Given the description of an element on the screen output the (x, y) to click on. 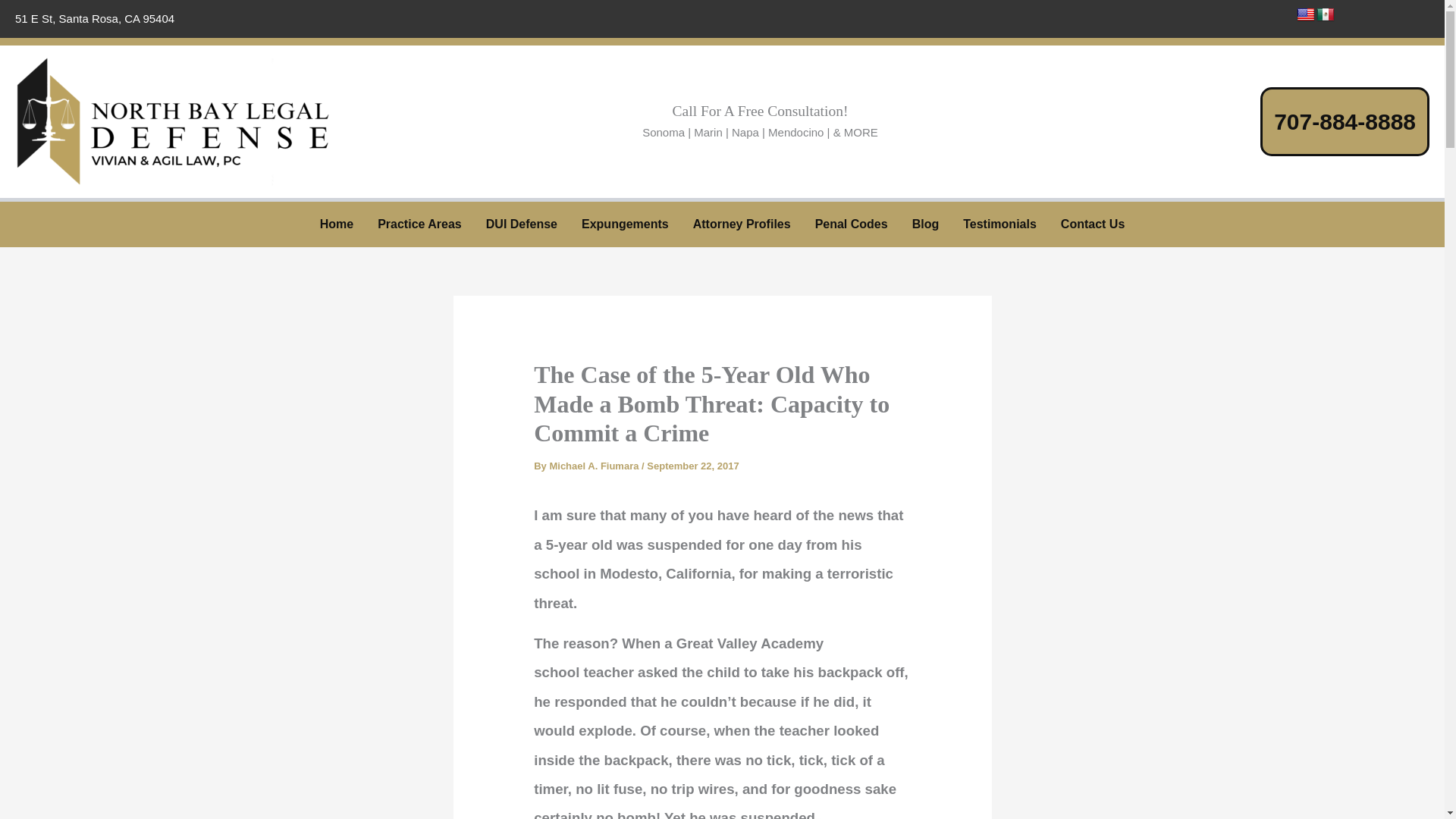
Penal Codes (851, 224)
DUI Defense (521, 224)
Attorney Profiles (742, 224)
707-884-8888 (1358, 121)
Testimonials (999, 224)
Contact Us (1092, 224)
Expungements (625, 224)
Spanish (1325, 14)
Michael A. Fiumara (595, 465)
English (1305, 14)
View all posts by Michael A. Fiumara (595, 465)
Home (336, 224)
Practice Areas (419, 224)
Blog (925, 224)
